Given the description of an element on the screen output the (x, y) to click on. 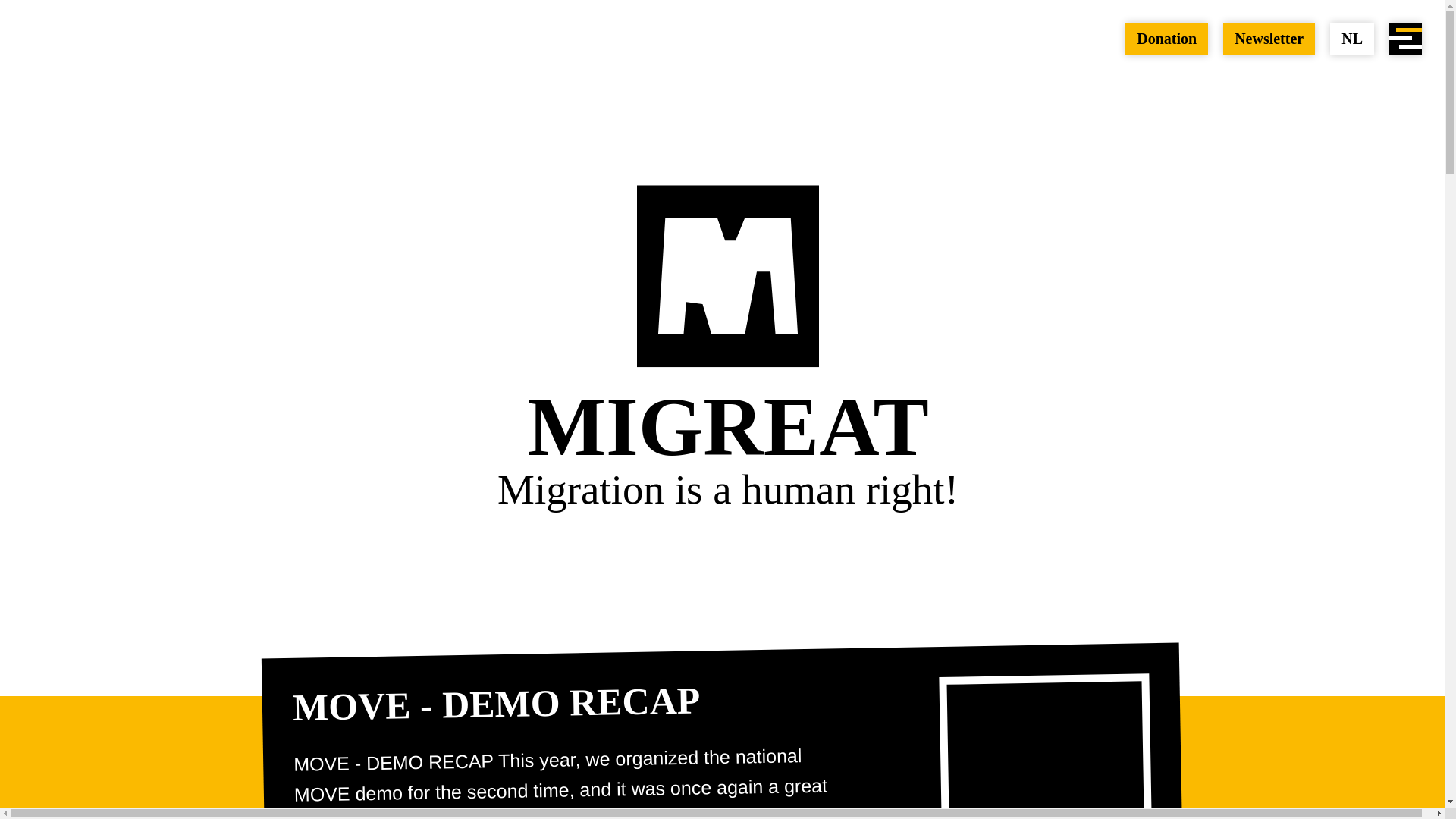
Newsletter (1268, 38)
Donation (1166, 38)
NL (1352, 38)
